Given the description of an element on the screen output the (x, y) to click on. 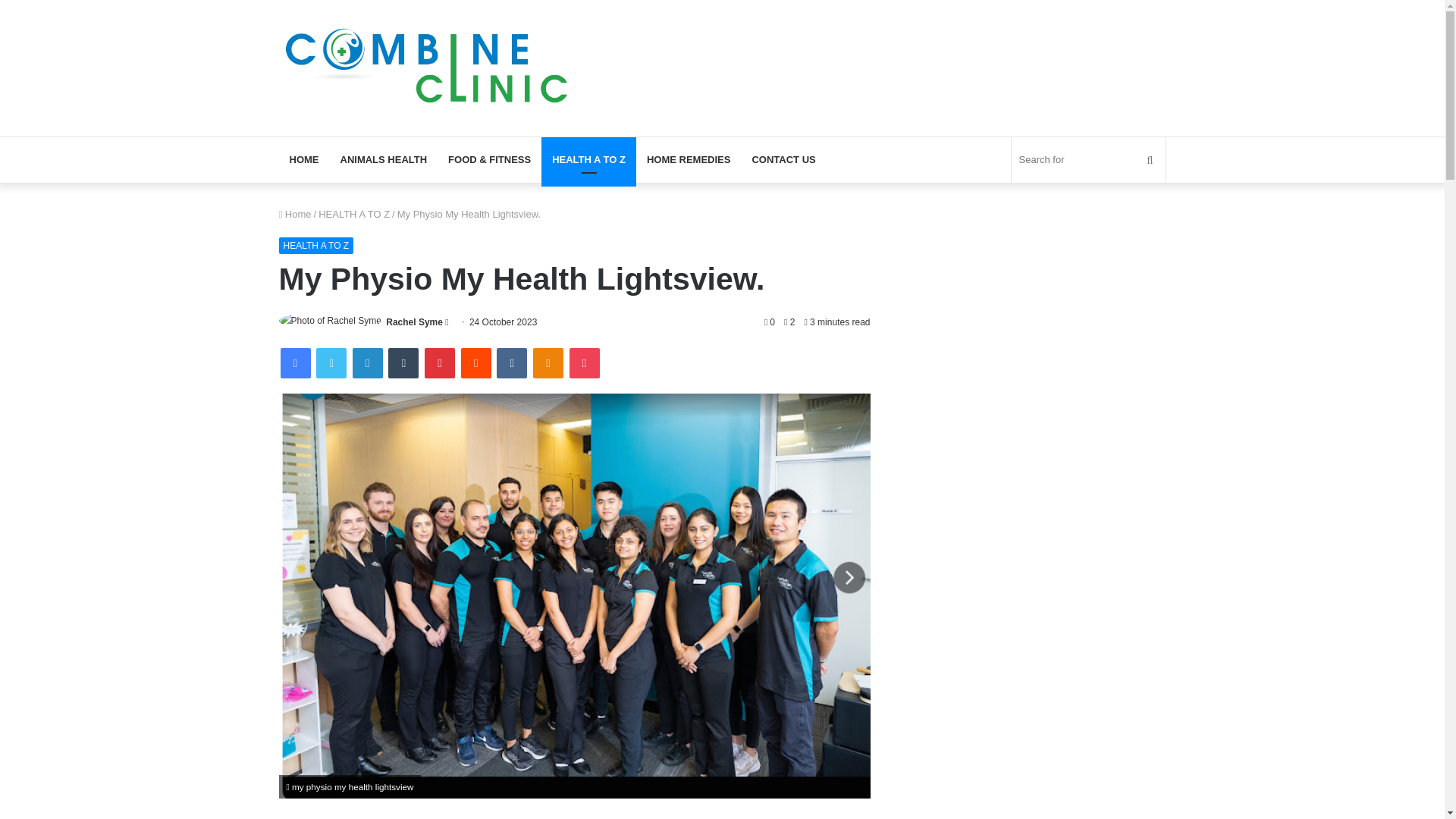
Reddit (476, 363)
VKontakte (511, 363)
Rachel Syme (413, 321)
Pocket (583, 363)
HOME REMEDIES (688, 159)
HEALTH A TO Z (354, 214)
HEALTH A TO Z (316, 245)
CONTACT US (783, 159)
Pinterest (439, 363)
HEALTH A TO Z (588, 159)
Tumblr (403, 363)
Facebook (296, 363)
Rachel Syme (413, 321)
Twitter (330, 363)
Odnoklassniki (547, 363)
